Given the description of an element on the screen output the (x, y) to click on. 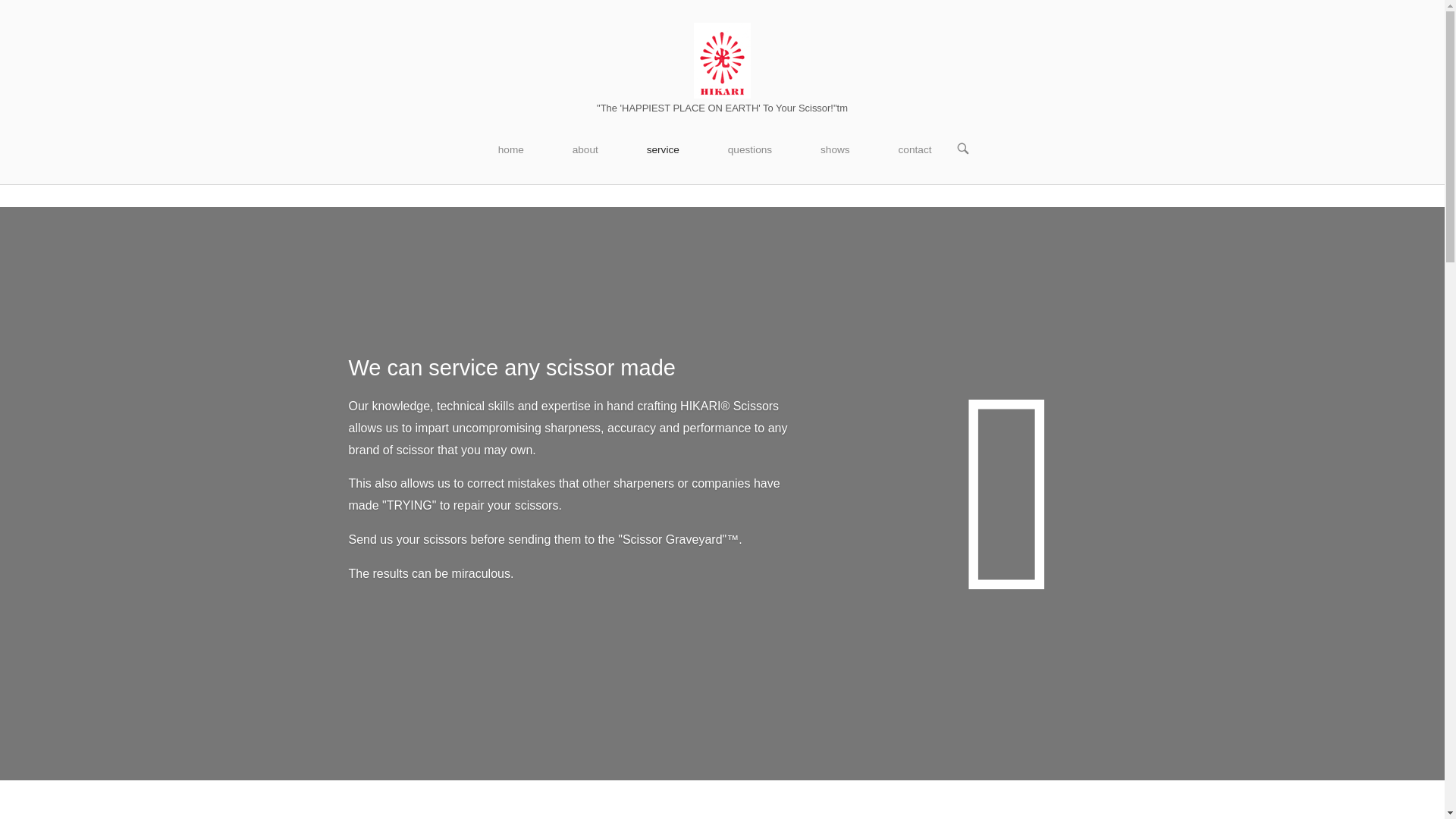
home (511, 149)
questions (749, 149)
service (662, 149)
Home (722, 60)
about (585, 149)
contact (914, 149)
shows (834, 149)
OPEN SEARCH BAR (962, 149)
